Given the description of an element on the screen output the (x, y) to click on. 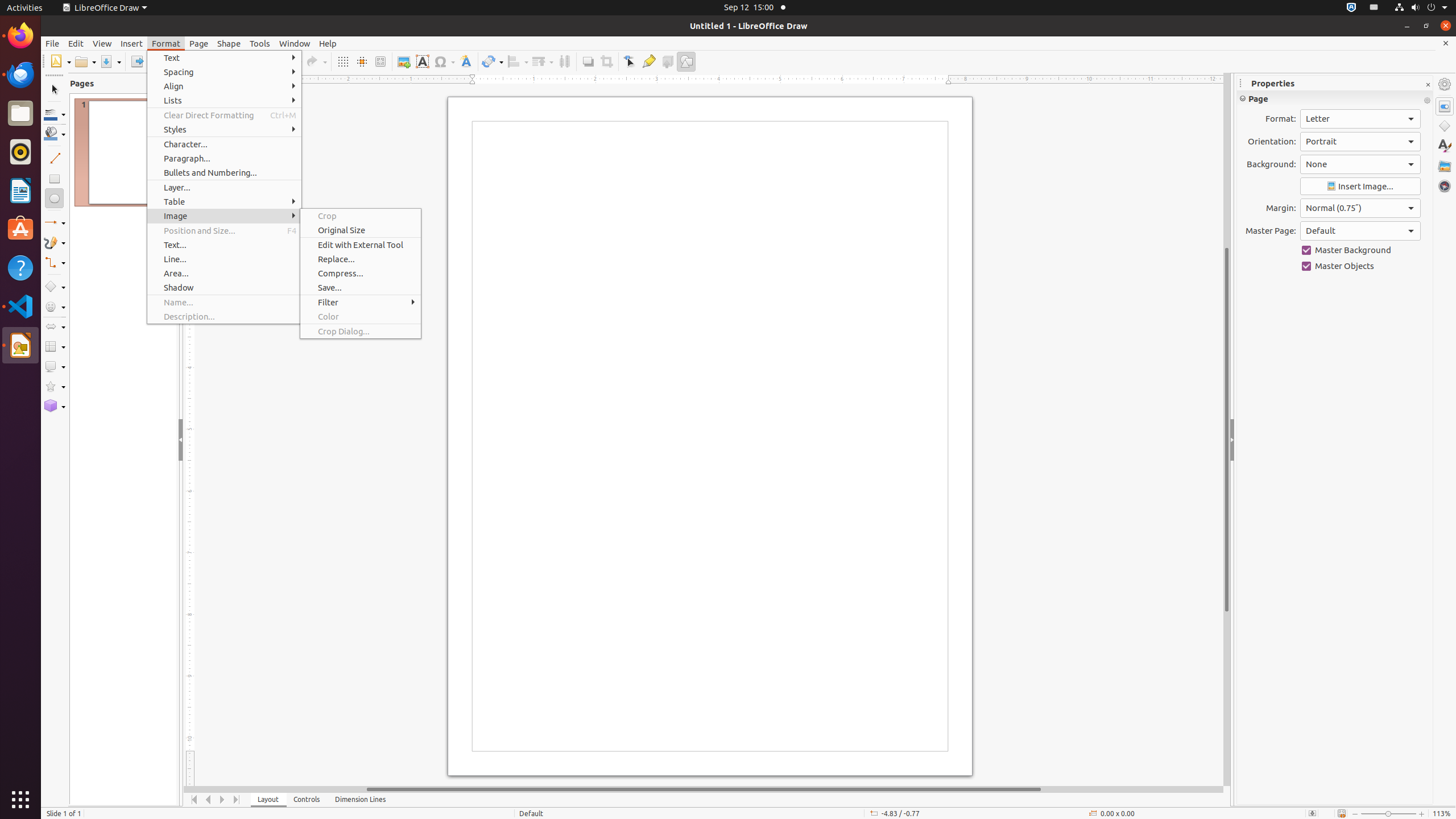
Insert Image Element type: push-button (1360, 186)
LibreOffice Draw Element type: menu (103, 7)
Draw Functions Element type: toggle-button (685, 61)
Window Element type: menu (294, 43)
Gallery Element type: radio-button (1444, 165)
